Given the description of an element on the screen output the (x, y) to click on. 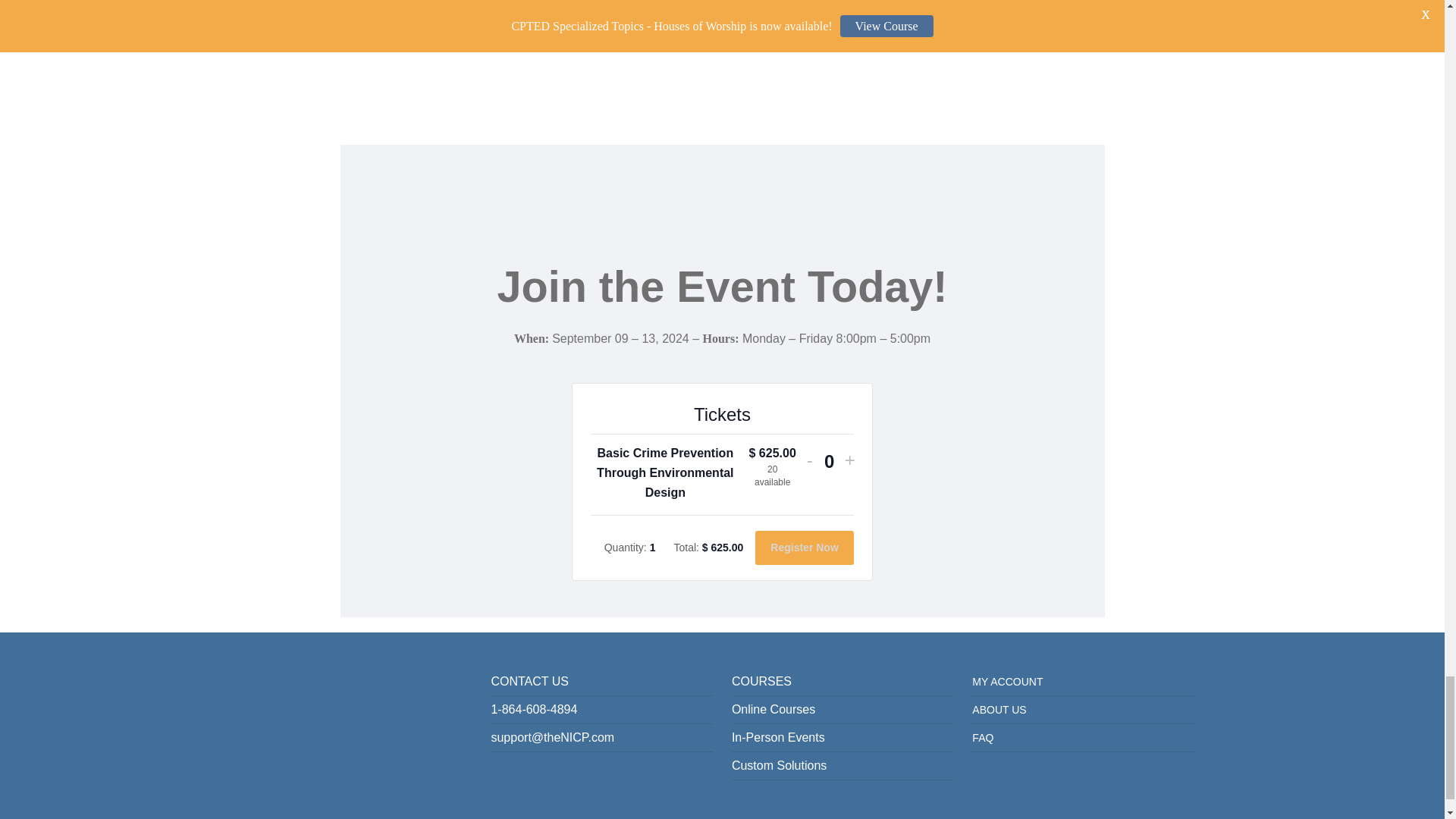
0 (828, 461)
